Given the description of an element on the screen output the (x, y) to click on. 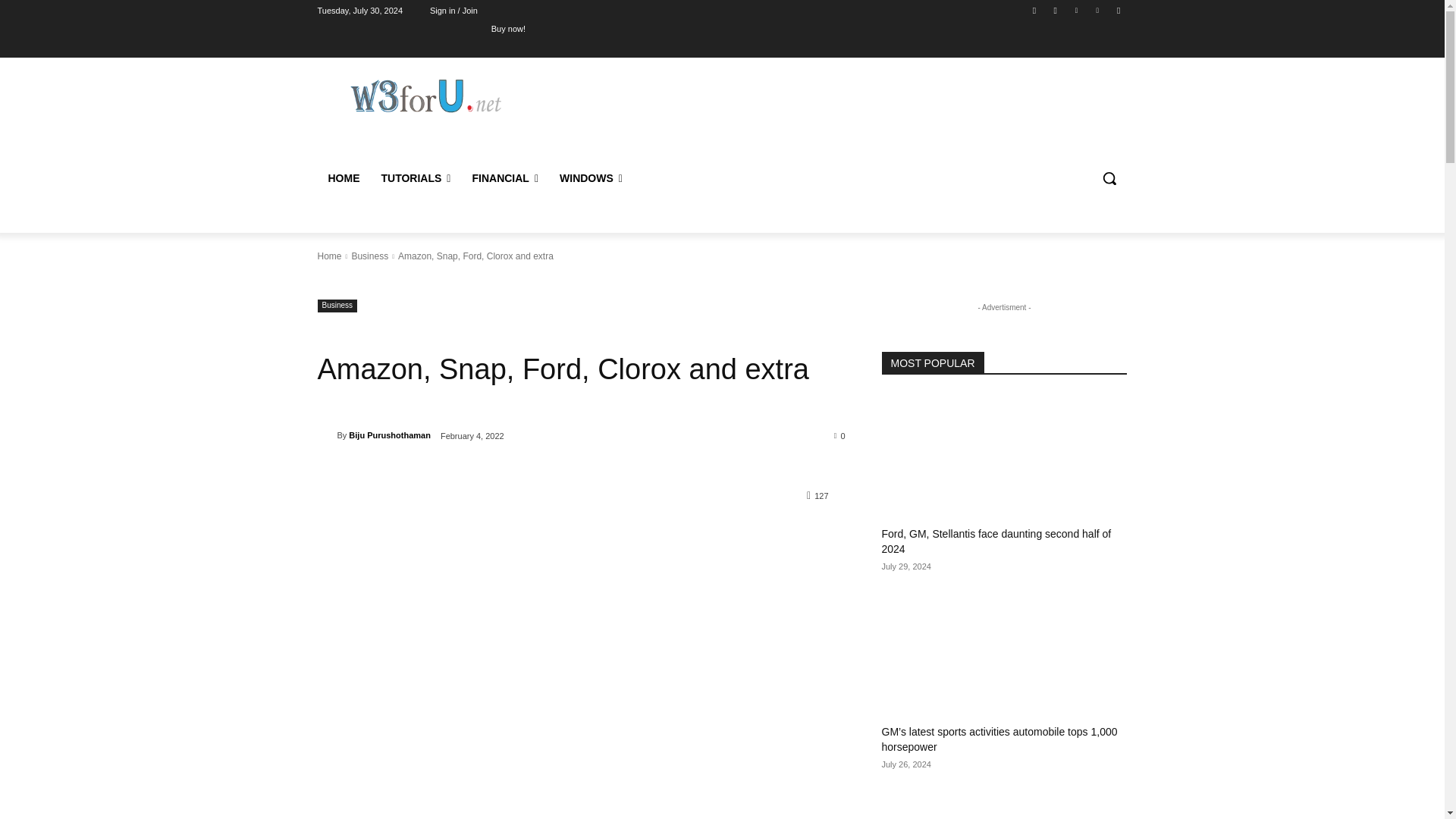
TUTORIALS (415, 177)
Instagram (1055, 9)
Twitter (1075, 9)
HOME (343, 177)
Youtube (1117, 9)
Vimeo (1097, 9)
Buy now! (508, 28)
Facebook (1034, 9)
